Given the description of an element on the screen output the (x, y) to click on. 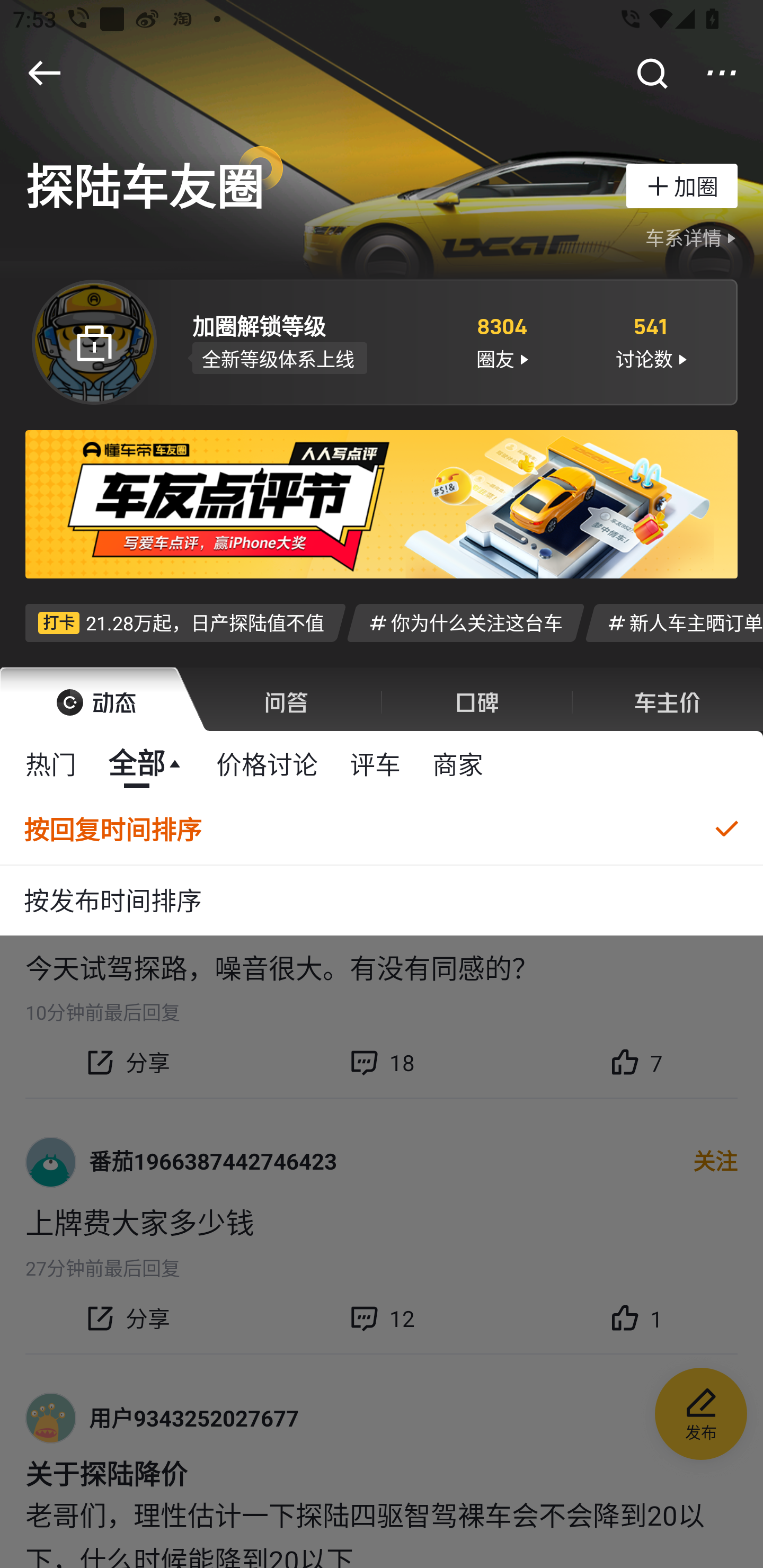
按回复时间排序  (381, 829)
按发布时间排序 (381, 900)
